Given the description of an element on the screen output the (x, y) to click on. 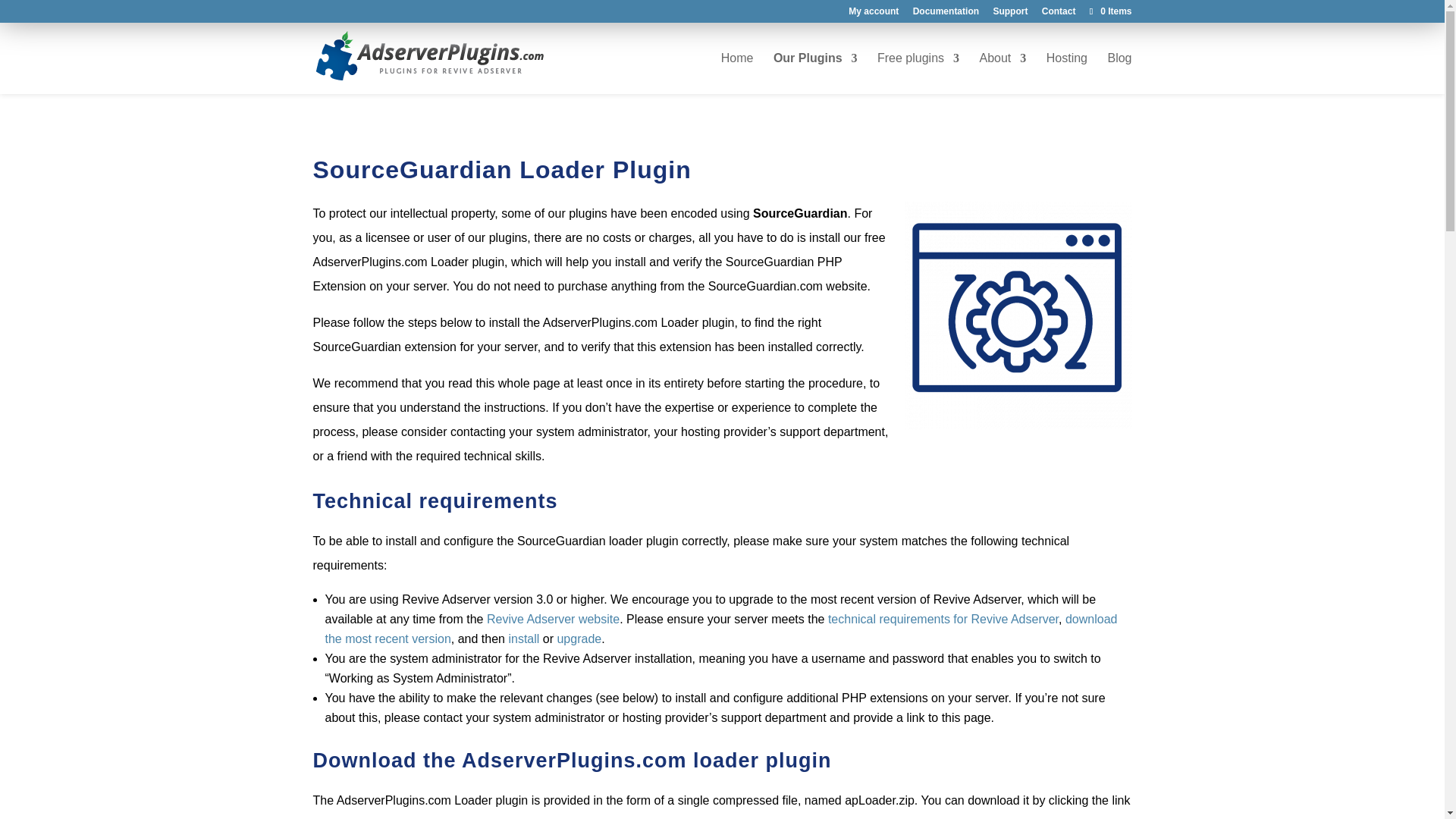
upgrade (578, 638)
Revive Adserver website (553, 618)
download the most recent version (720, 628)
Contact (1058, 14)
technical requirements for Revive Adserver (943, 618)
View your account, past orders, downloads (873, 14)
0 Items (1108, 10)
Documentation (945, 14)
Hosting (1066, 73)
About (1002, 73)
